Given the description of an element on the screen output the (x, y) to click on. 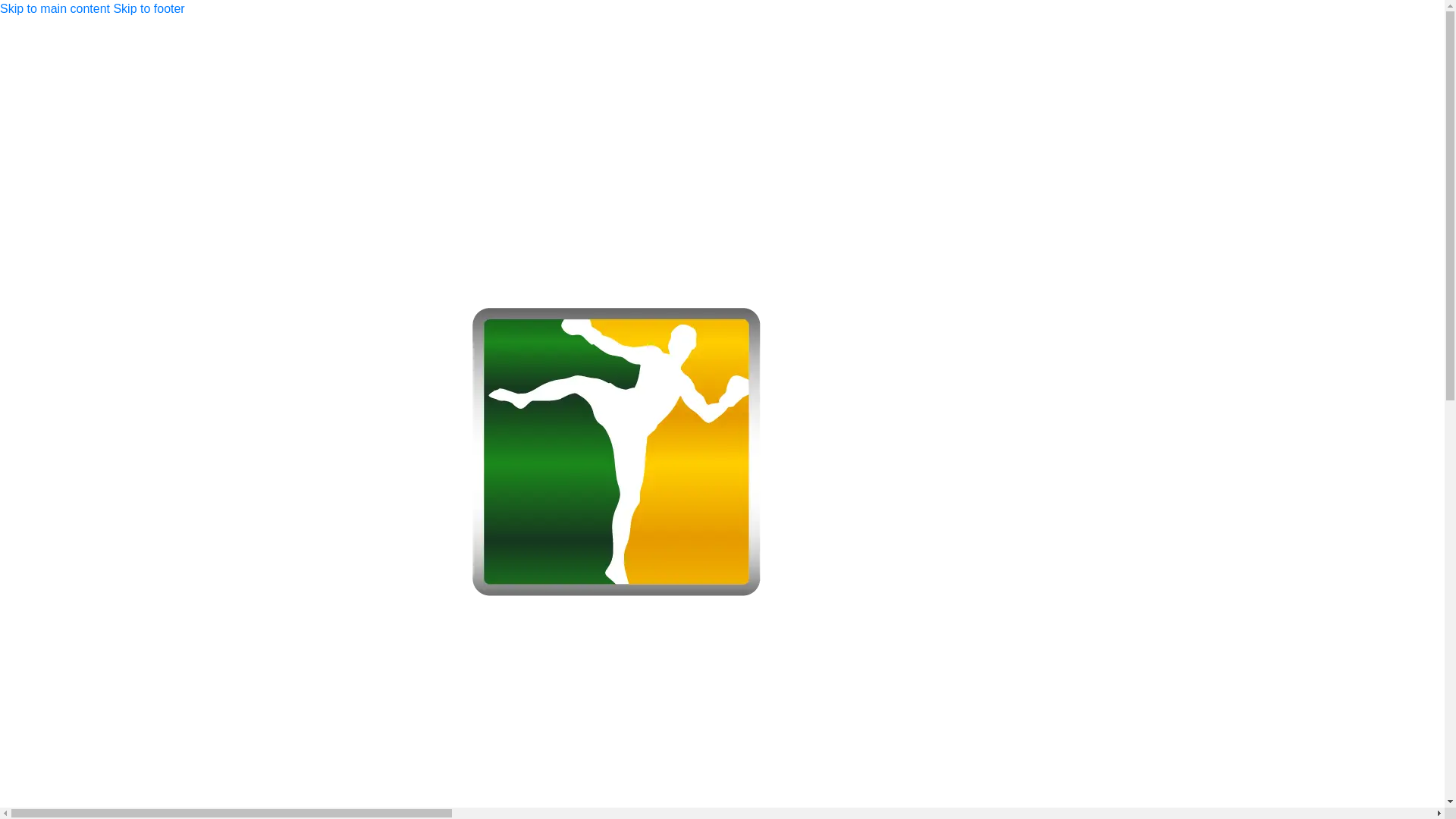
Skip to footer Element type: text (148, 8)
Skip to main content Element type: text (54, 8)
